Given the description of an element on the screen output the (x, y) to click on. 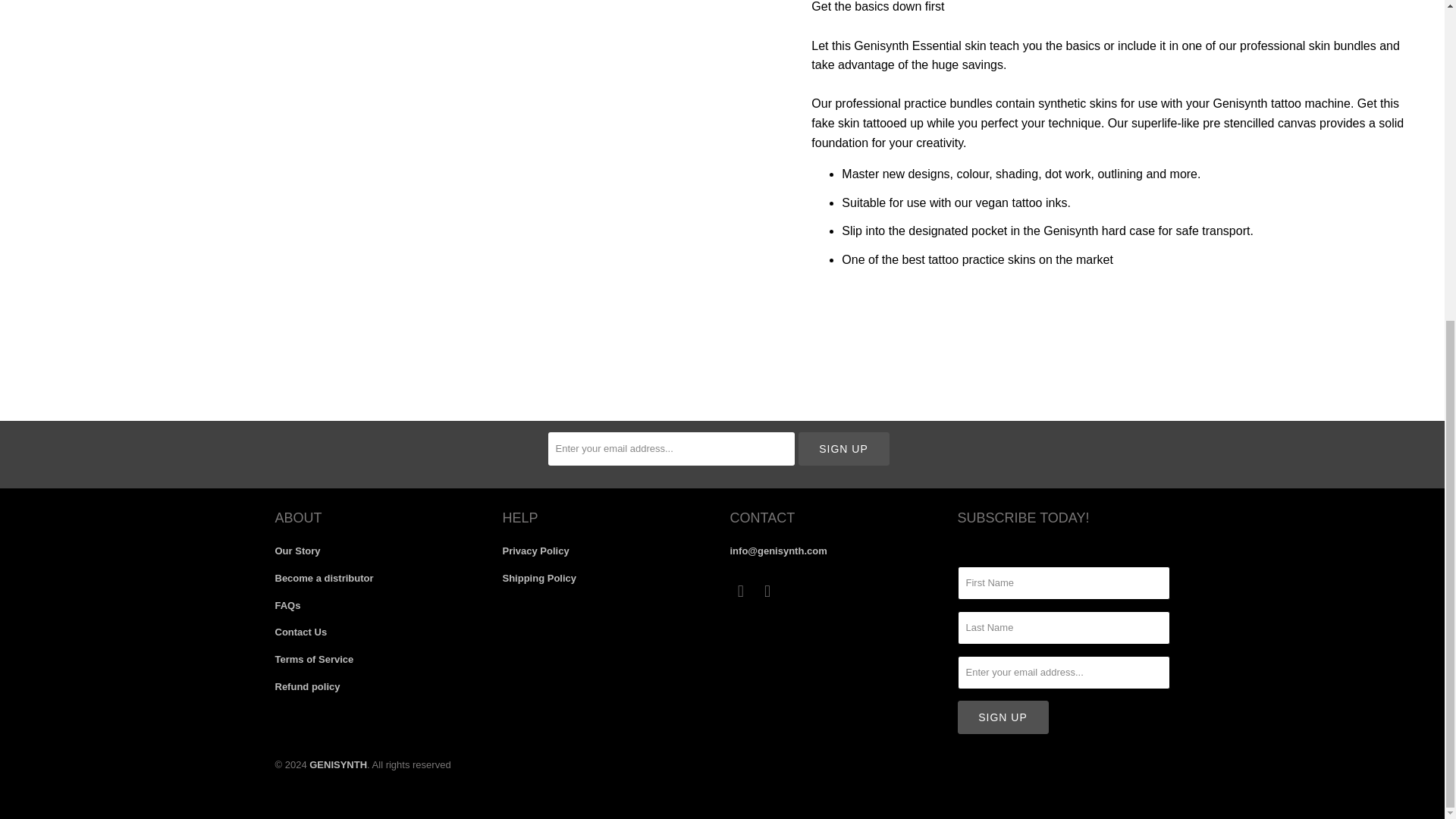
Sign Up (1002, 717)
GENISYNTH on Facebook (740, 591)
GENISYNTH on Instagram (767, 591)
Sign Up (842, 449)
